Given the description of an element on the screen output the (x, y) to click on. 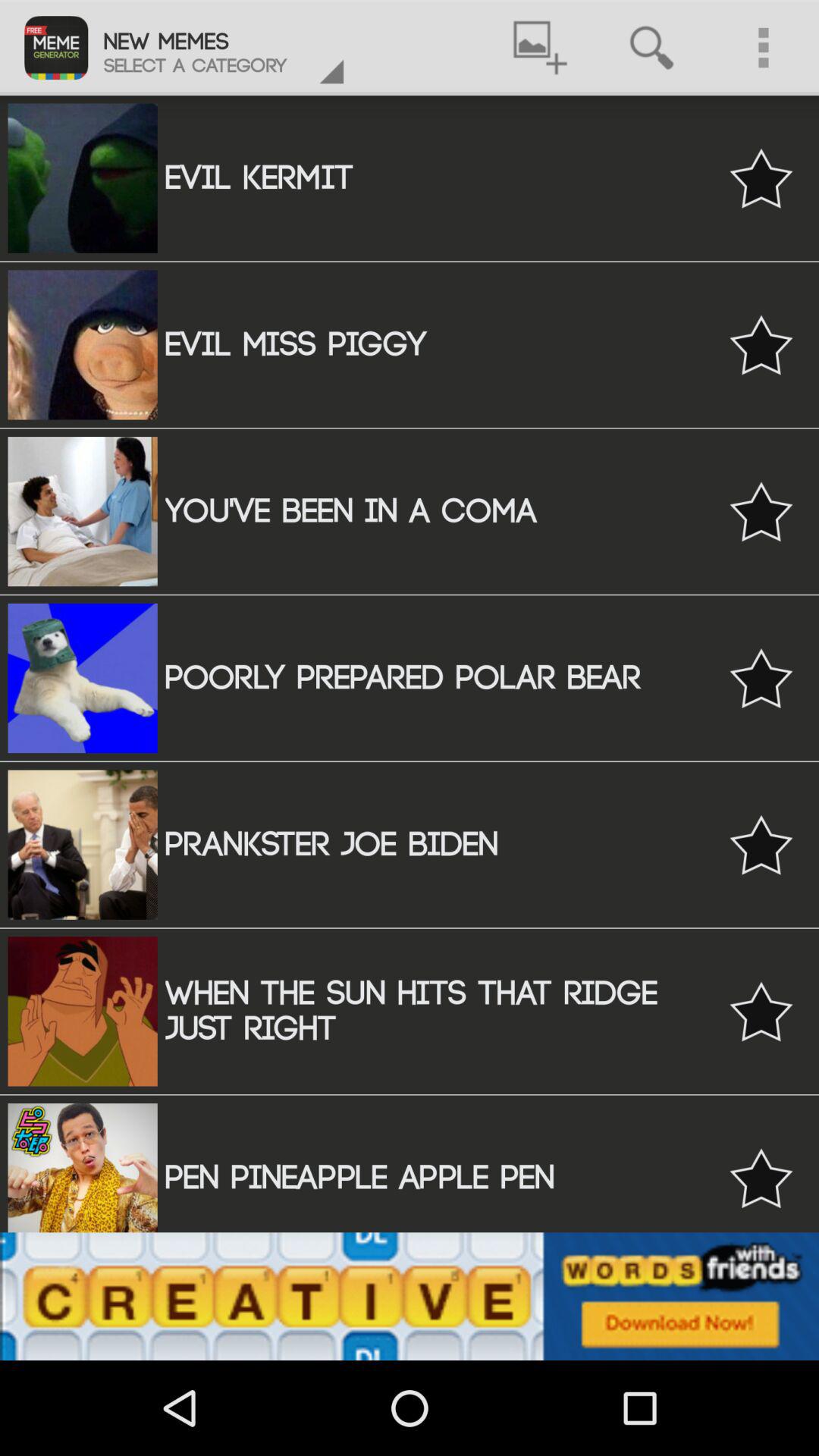
star icon (761, 511)
